Given the description of an element on the screen output the (x, y) to click on. 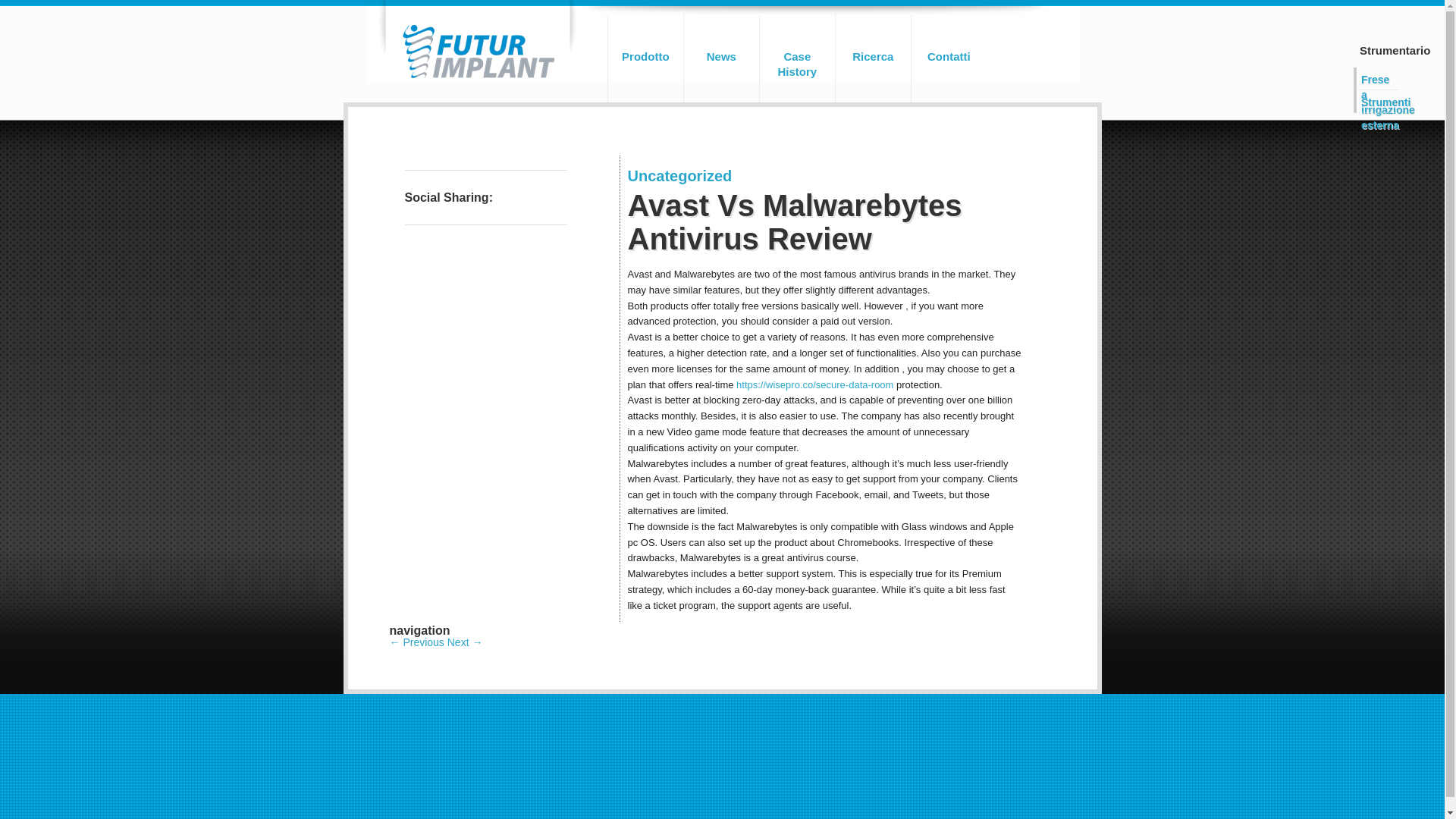
Uncategorized (679, 175)
Strumenti (1376, 100)
Frese a irrigazione esterna (1376, 77)
